Given the description of an element on the screen output the (x, y) to click on. 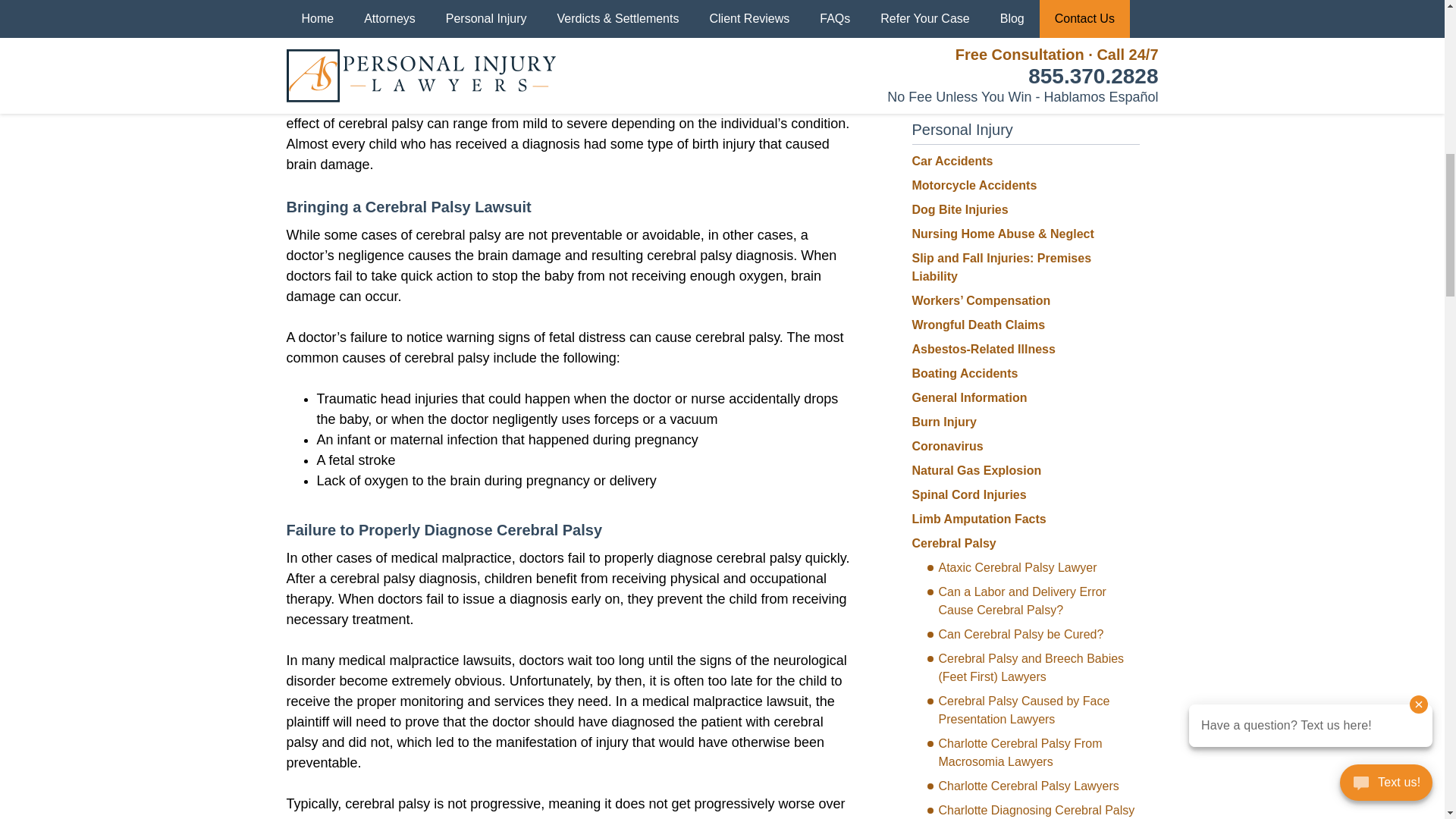
Motorcycle Accidents (973, 185)
Slip and Fall Injuries: Premises Liability (1000, 266)
Car Accidents (951, 160)
Personal Injury (961, 129)
CONTACT US NOW (1024, 44)
Dog Bite Injuries (959, 209)
